Given the description of an element on the screen output the (x, y) to click on. 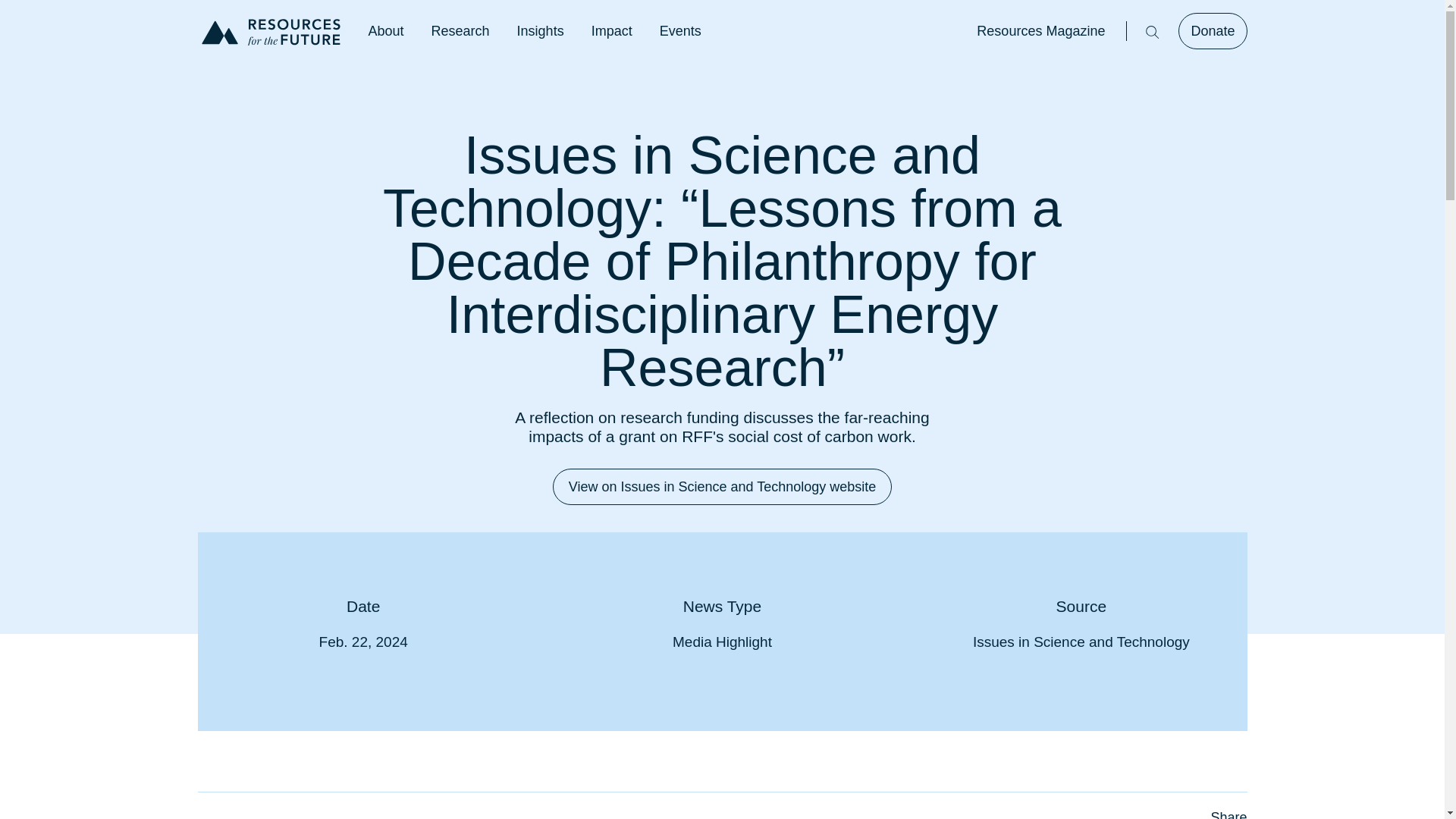
About (386, 30)
Insights (540, 30)
Research (459, 30)
Impact (611, 30)
Resources Magazine (1040, 30)
Donate (1211, 31)
Events (680, 30)
